Given the description of an element on the screen output the (x, y) to click on. 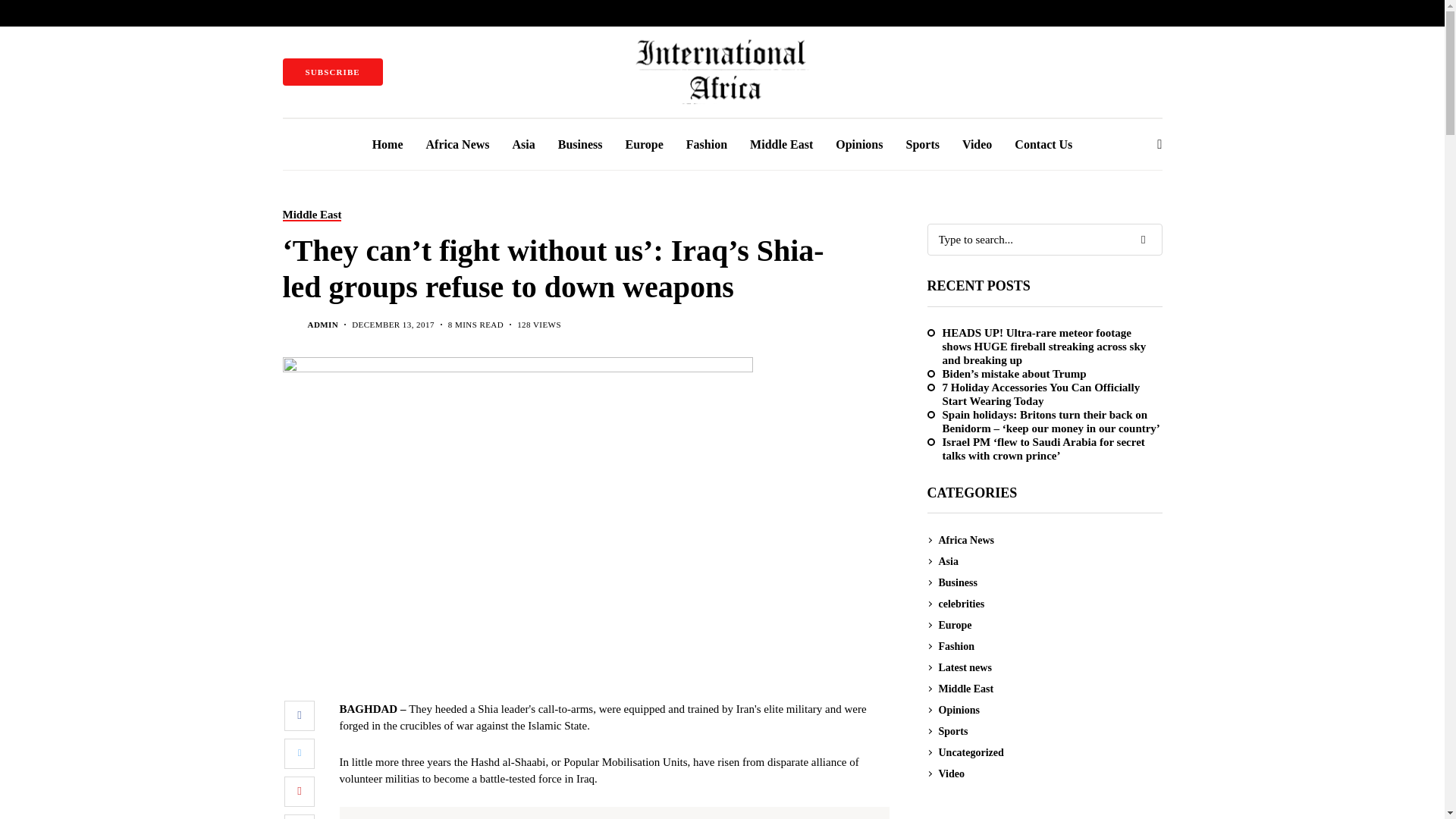
Contact Us (1042, 143)
Opinions (858, 143)
SUBSCRIBE (331, 71)
Africa News (457, 143)
Middle East (780, 143)
ADMIN (323, 325)
Posts by admin (323, 325)
Middle East (311, 214)
